Given the description of an element on the screen output the (x, y) to click on. 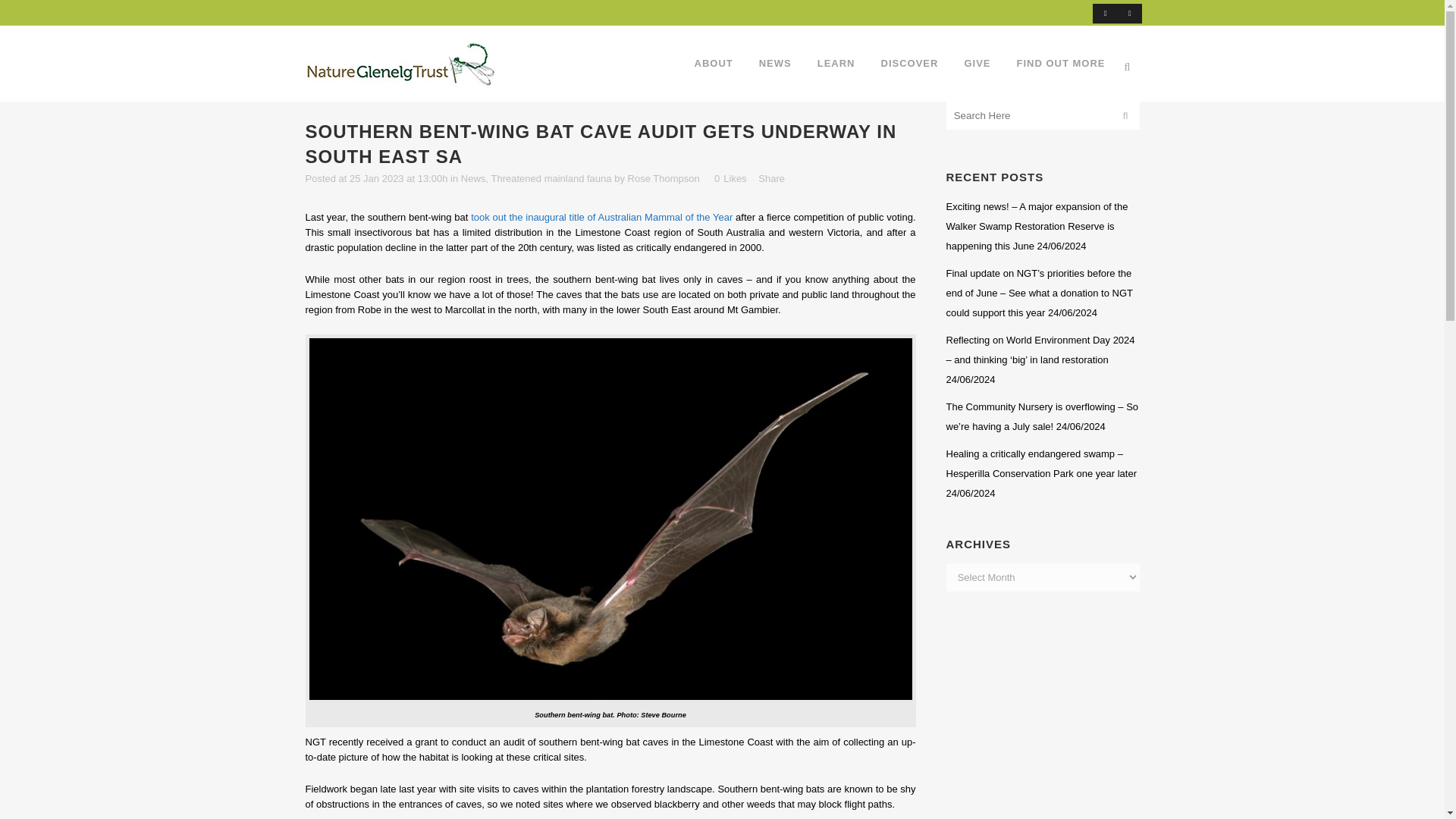
Like this (730, 178)
FIND OUT MORE (1061, 63)
DISCOVER (909, 63)
